Given the description of an element on the screen output the (x, y) to click on. 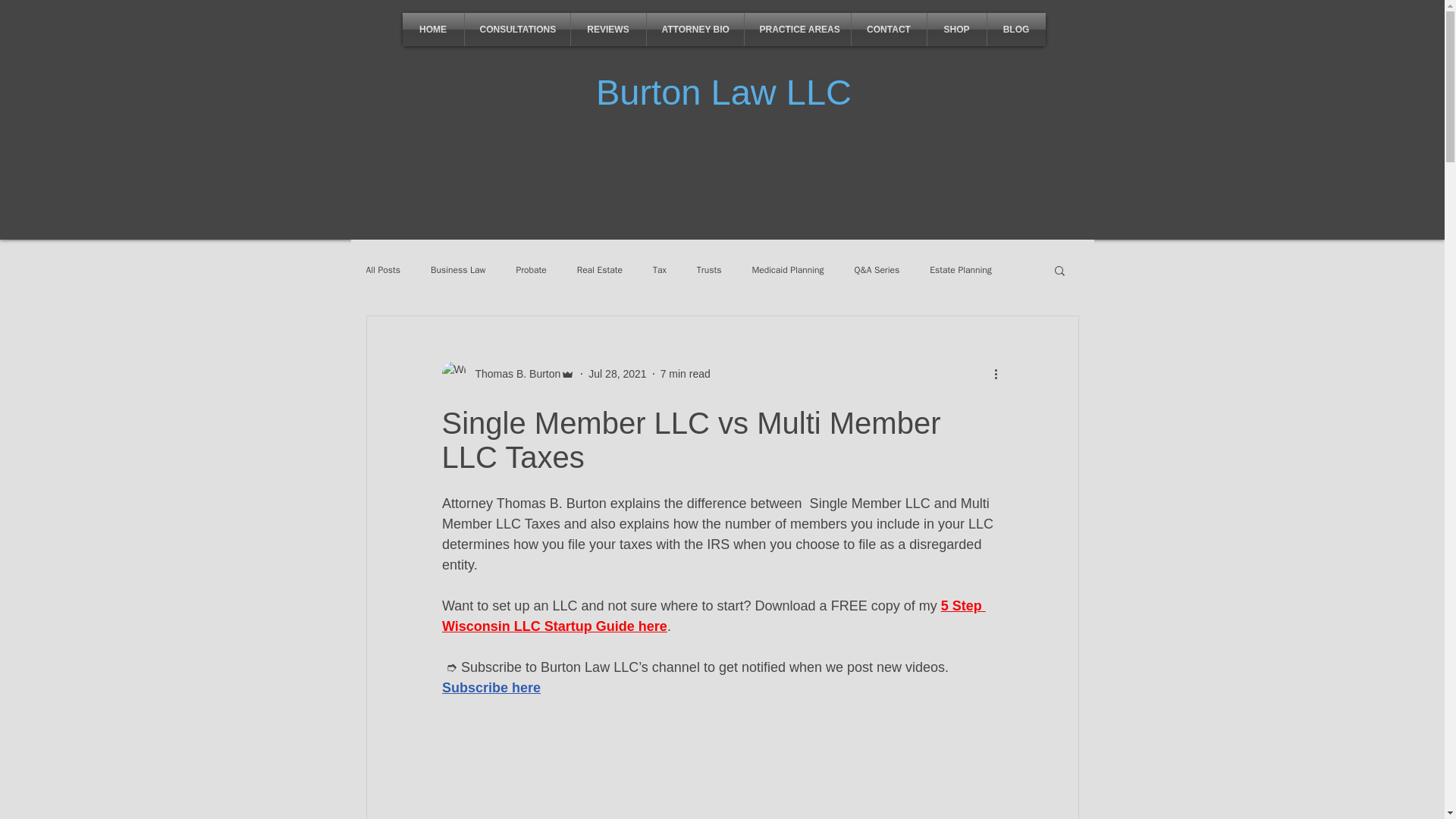
Jul 28, 2021 (617, 372)
ATTORNEY BIO (694, 29)
HOME (432, 29)
Business Law (457, 269)
CONSULTATIONS (516, 29)
Tax (659, 269)
Medicaid Planning (787, 269)
Thomas B. Burton (512, 373)
Trusts (709, 269)
All Posts (382, 269)
7 min read (685, 372)
Probate (530, 269)
SHOP (955, 29)
CONTACT (888, 29)
BLOG (1016, 29)
